Given the description of an element on the screen output the (x, y) to click on. 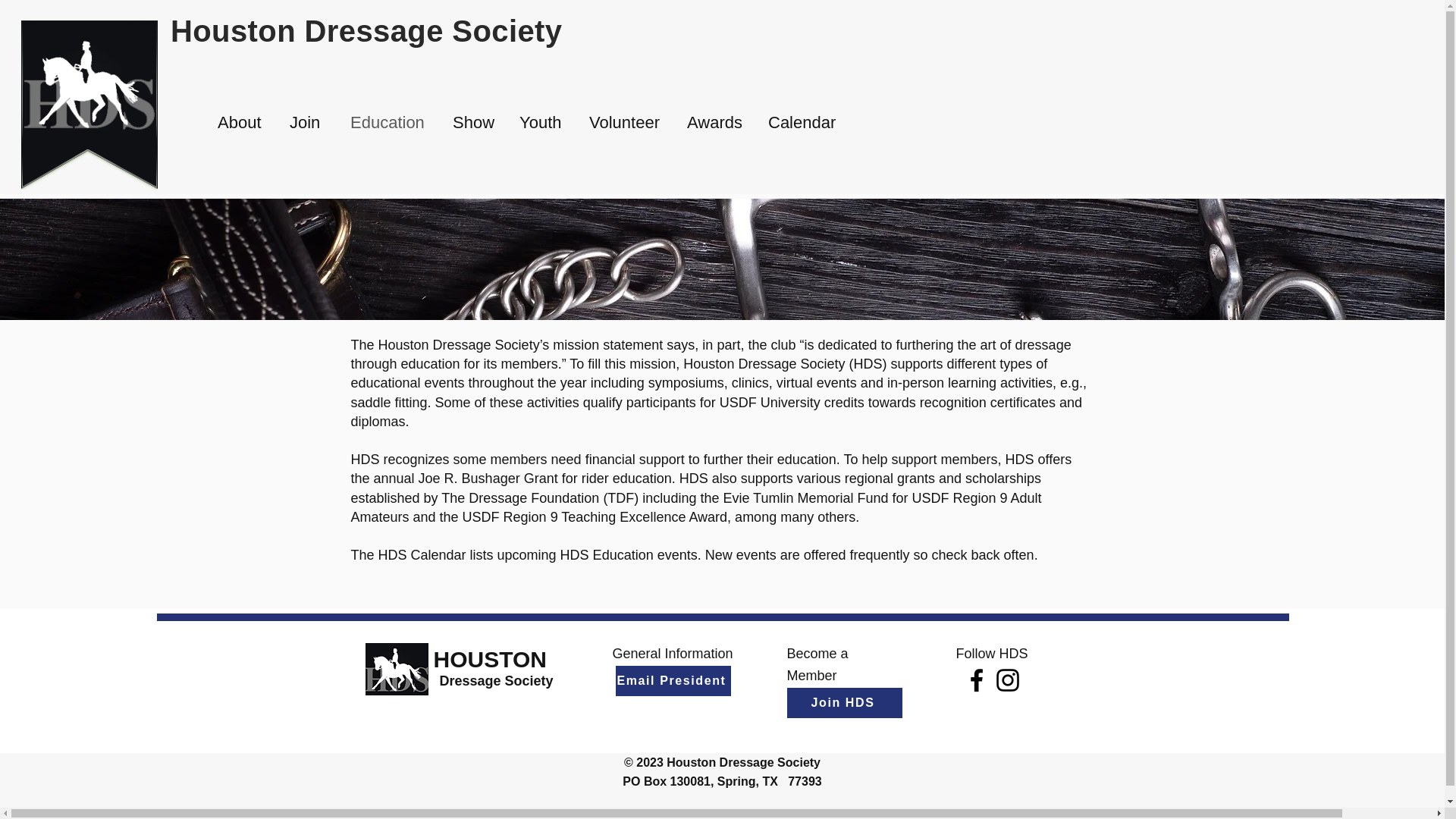
Join HDS (844, 702)
Show (474, 122)
About (242, 122)
HOUSTON (490, 659)
Education (390, 122)
Awards (716, 122)
Email President (672, 680)
Volunteer (626, 122)
Join (308, 122)
Calendar (802, 122)
Youth (543, 122)
Dressage Society (496, 680)
